Given the description of an element on the screen output the (x, y) to click on. 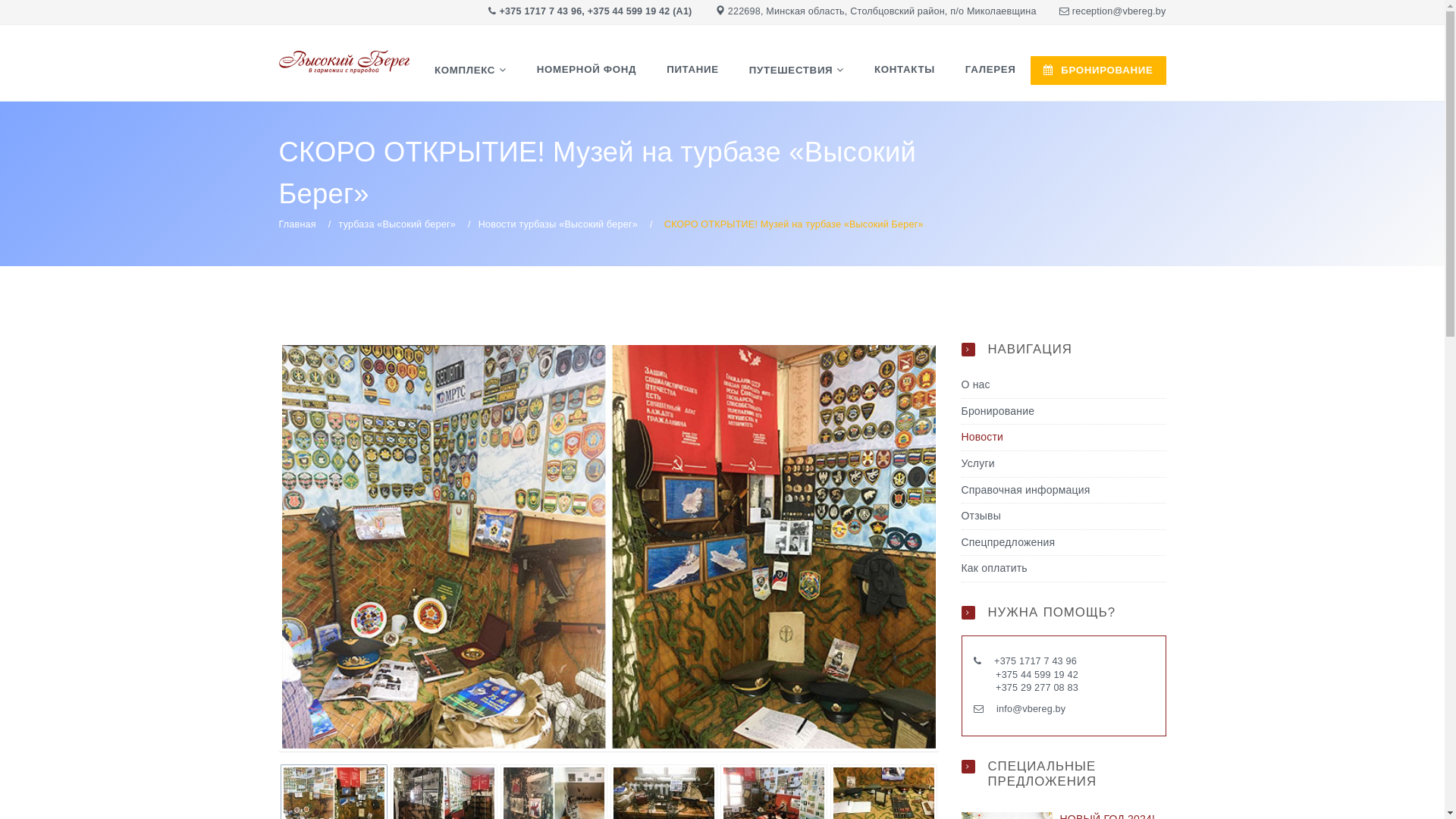
info@vbereg.by Element type: text (1030, 708)
+375 1717 7 43 96  Element type: text (1036, 660)
@vbereg.by Element type: text (1138, 11)
reception Element type: text (1092, 11)
